Given the description of an element on the screen output the (x, y) to click on. 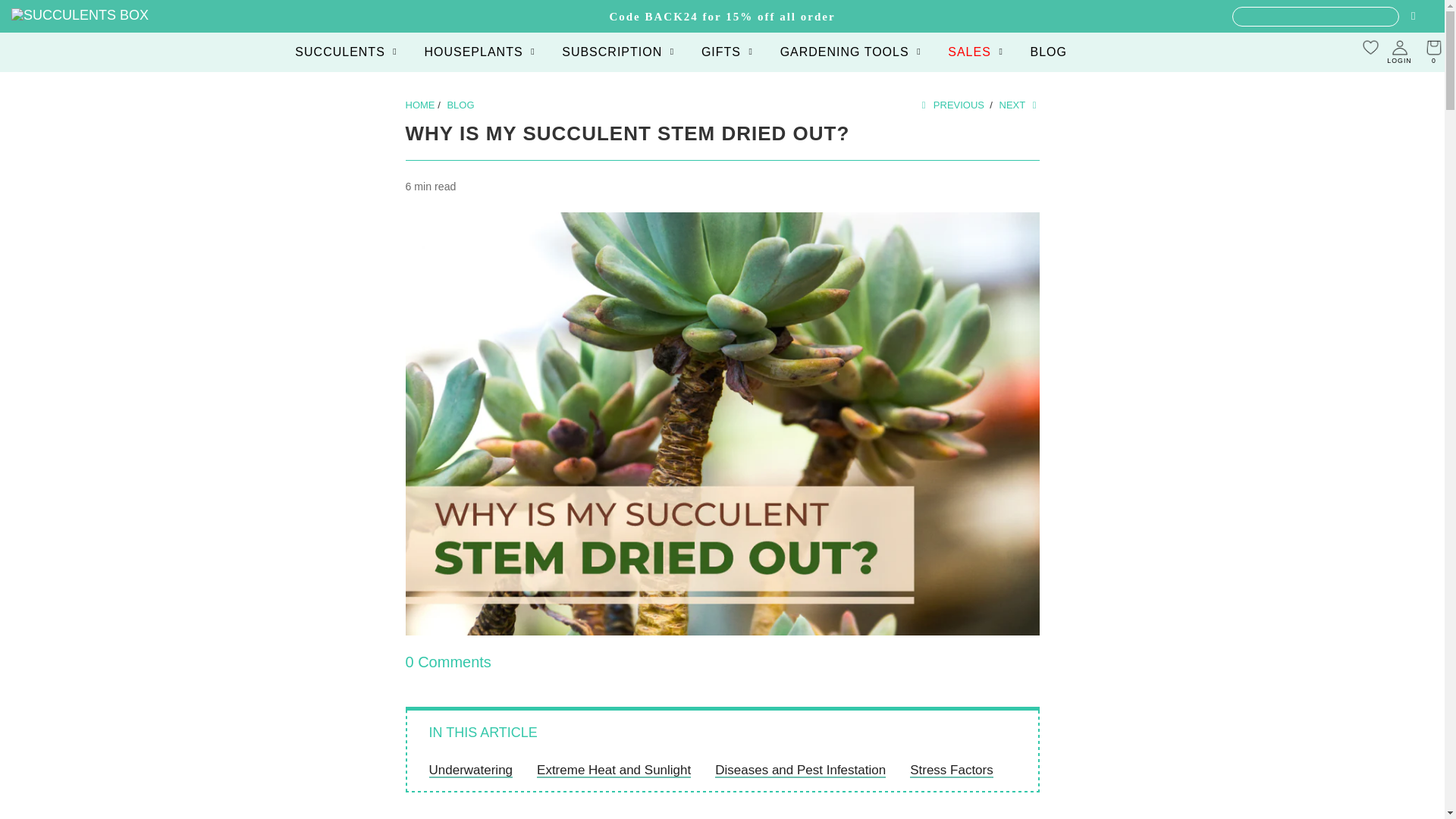
Blog (460, 104)
Succulents Box (418, 104)
My Account  (1398, 51)
Succulents Box (79, 15)
